Given the description of an element on the screen output the (x, y) to click on. 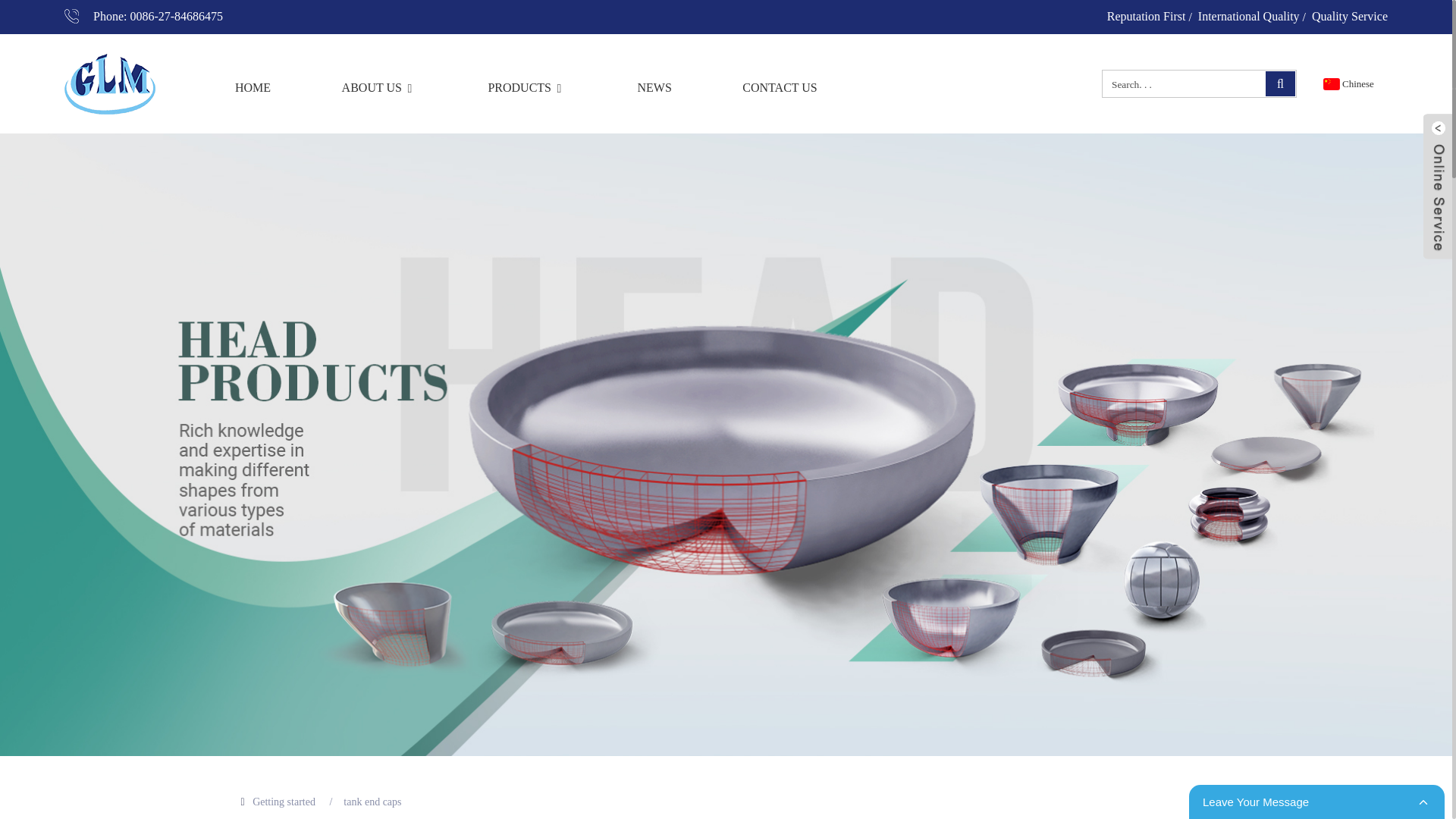
International Quality (1249, 15)
NEWS (654, 87)
Quality Service (1349, 15)
tank end caps (372, 801)
CONTACT US (779, 87)
Getting started (283, 801)
Chinese (1346, 83)
PRODUCTS (526, 87)
ABOUT US (379, 87)
Phone: 0086-27-84686475 (143, 16)
